Given the description of an element on the screen output the (x, y) to click on. 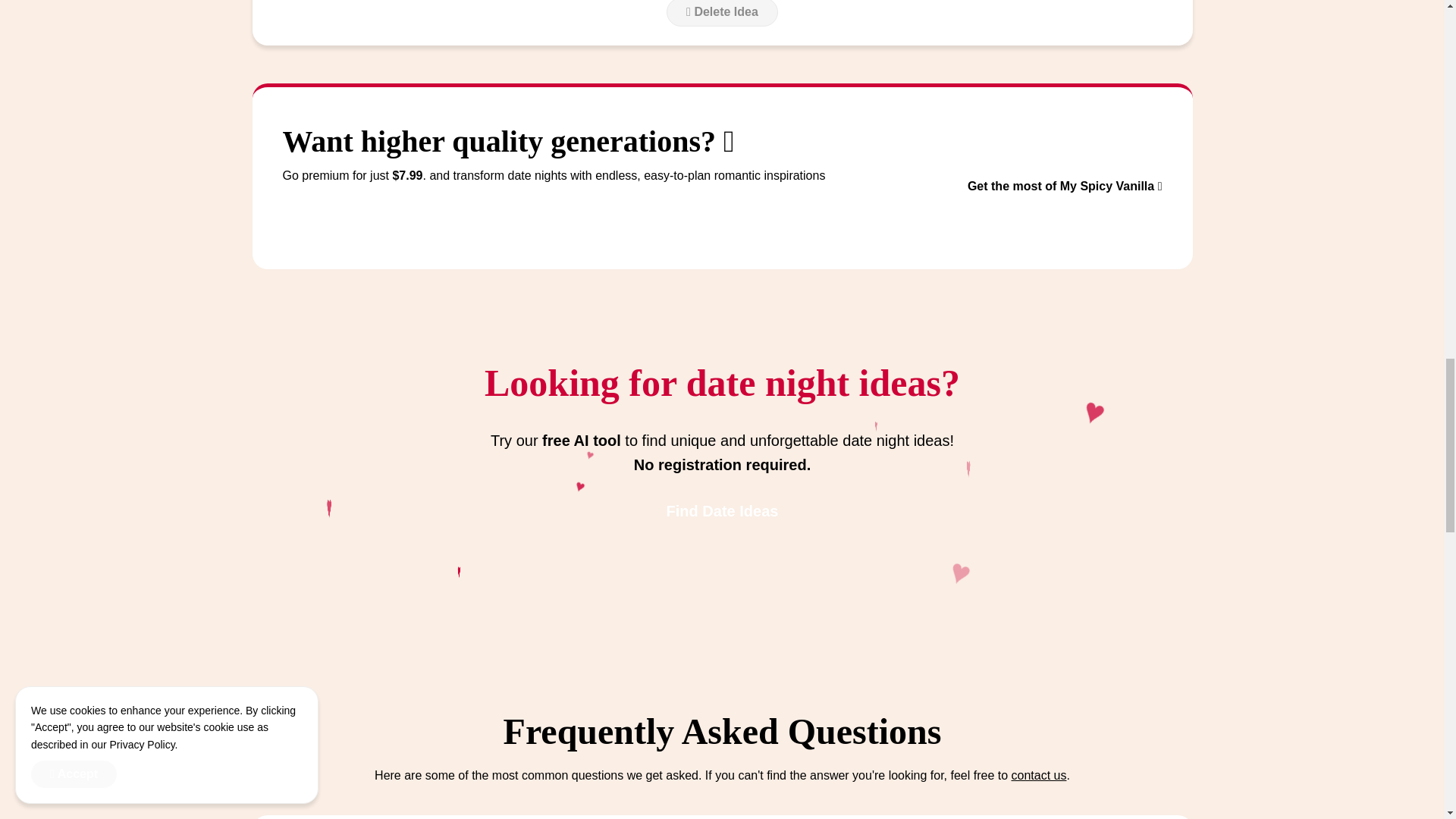
contact us (1039, 775)
Find Date Ideas (722, 510)
